Given the description of an element on the screen output the (x, y) to click on. 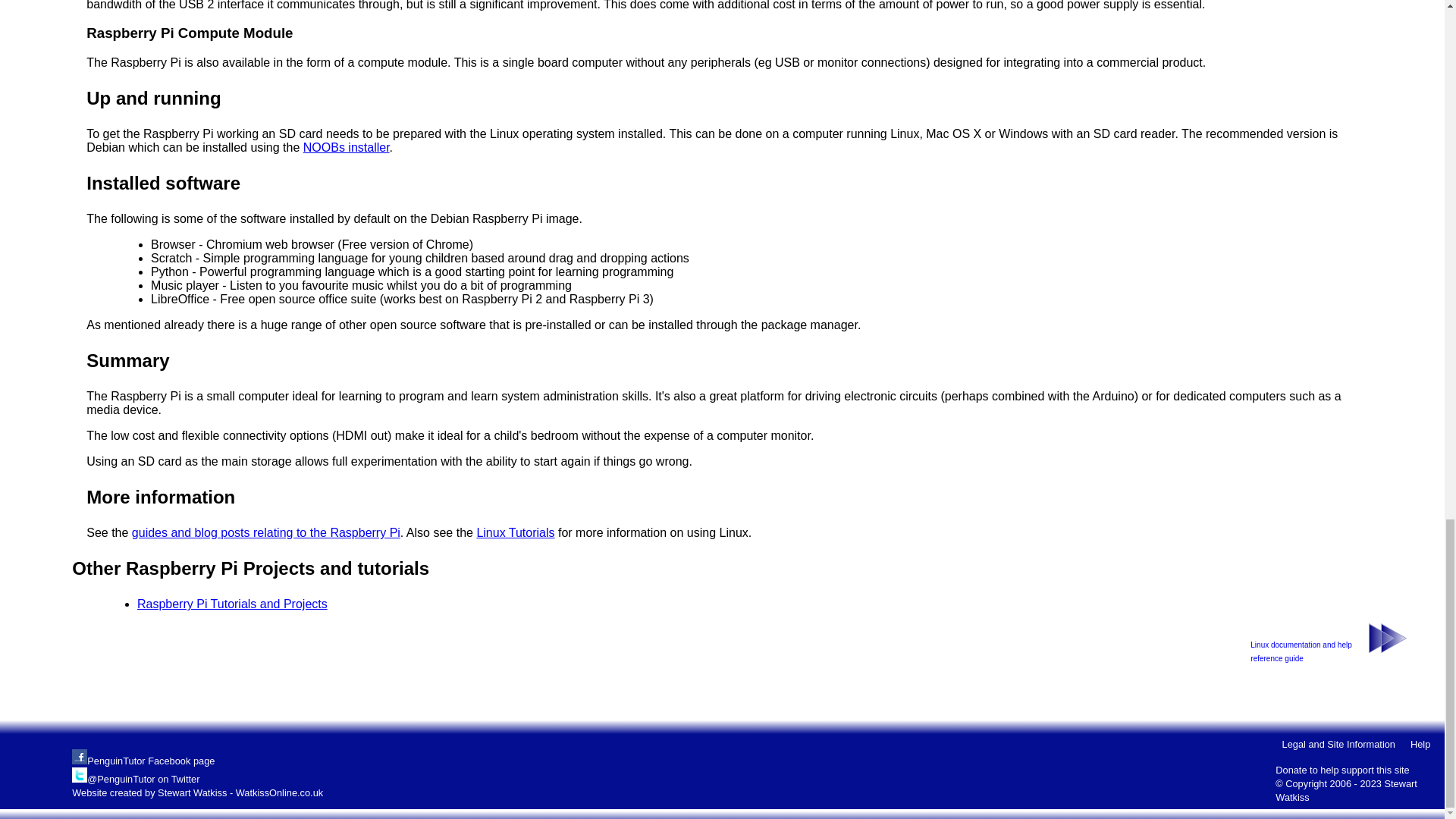
Linux documentation and help reference guide (1300, 658)
PenguinTutor Facebook page (150, 760)
Raspberry Pi Tutorials and Projects (231, 603)
NOOBs installer (346, 146)
guides and blog posts relating to the Raspberry Pi (266, 532)
Legal and Site Information (1338, 744)
Website created by Stewart Watkiss - WatkissOnline.co.uk (197, 792)
Donate to help support this site (1342, 769)
Help (1419, 744)
Linux Tutorials (515, 532)
